Given the description of an element on the screen output the (x, y) to click on. 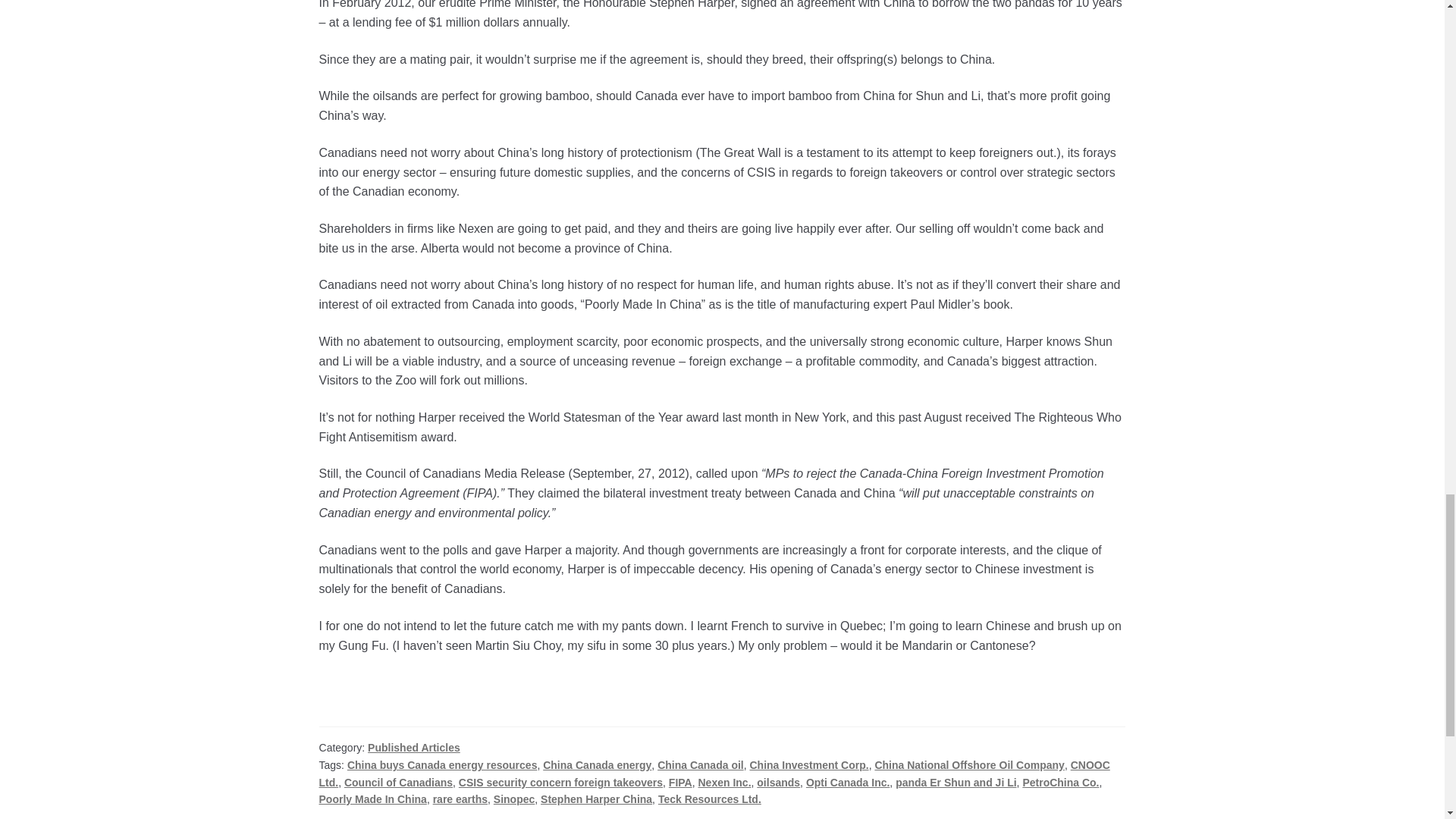
CSIS security concern foreign takeovers (560, 782)
China Investment Corp. (808, 765)
Nexen Inc. (724, 782)
China Canada energy (596, 765)
China Canada oil (701, 765)
Council of Canadians (397, 782)
China buys Canada energy resources (442, 765)
Opti Canada Inc. (847, 782)
FIPA (680, 782)
Published Articles (414, 747)
